Given the description of an element on the screen output the (x, y) to click on. 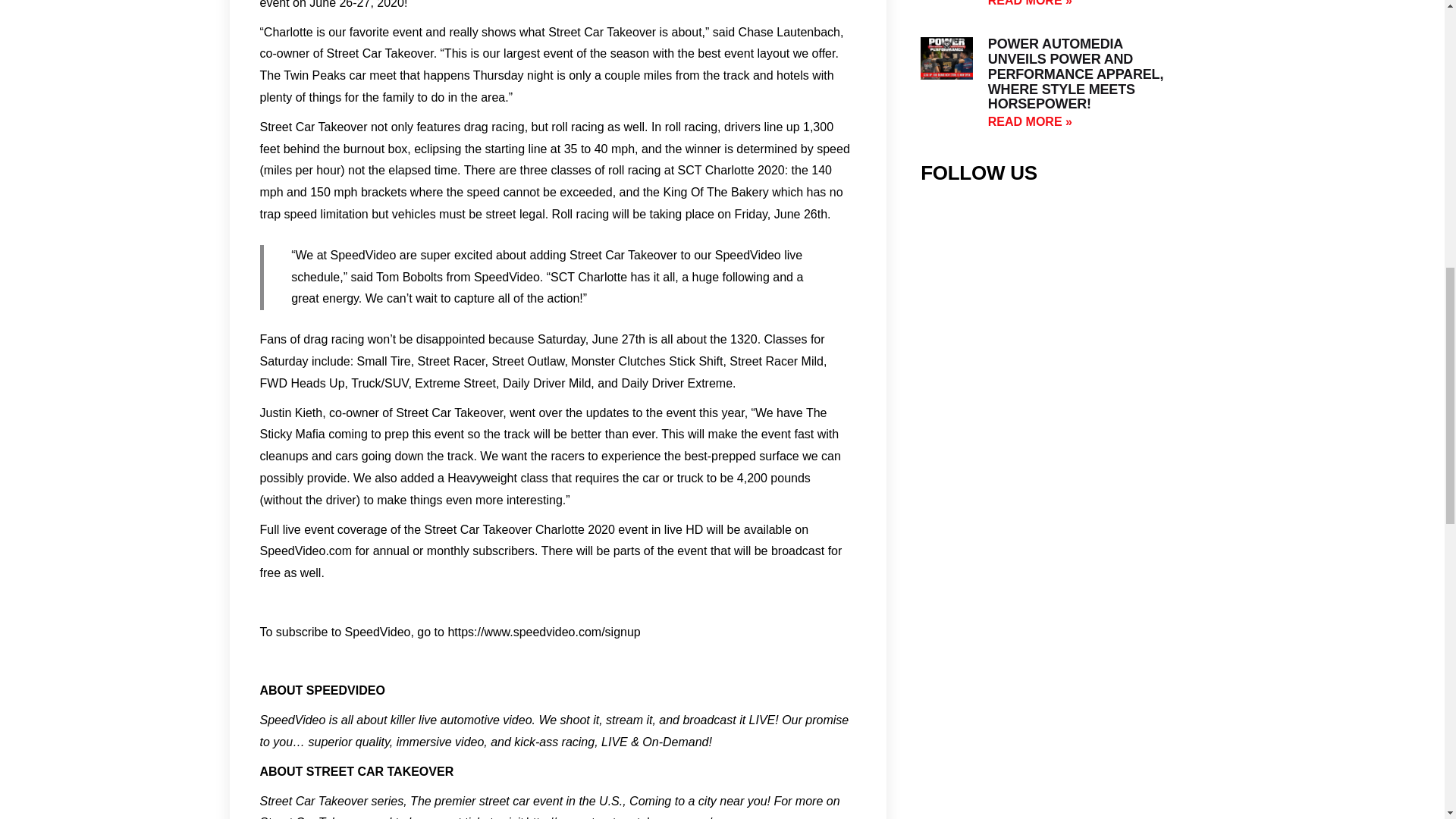
The Sticky Mafia (543, 423)
